Given the description of an element on the screen output the (x, y) to click on. 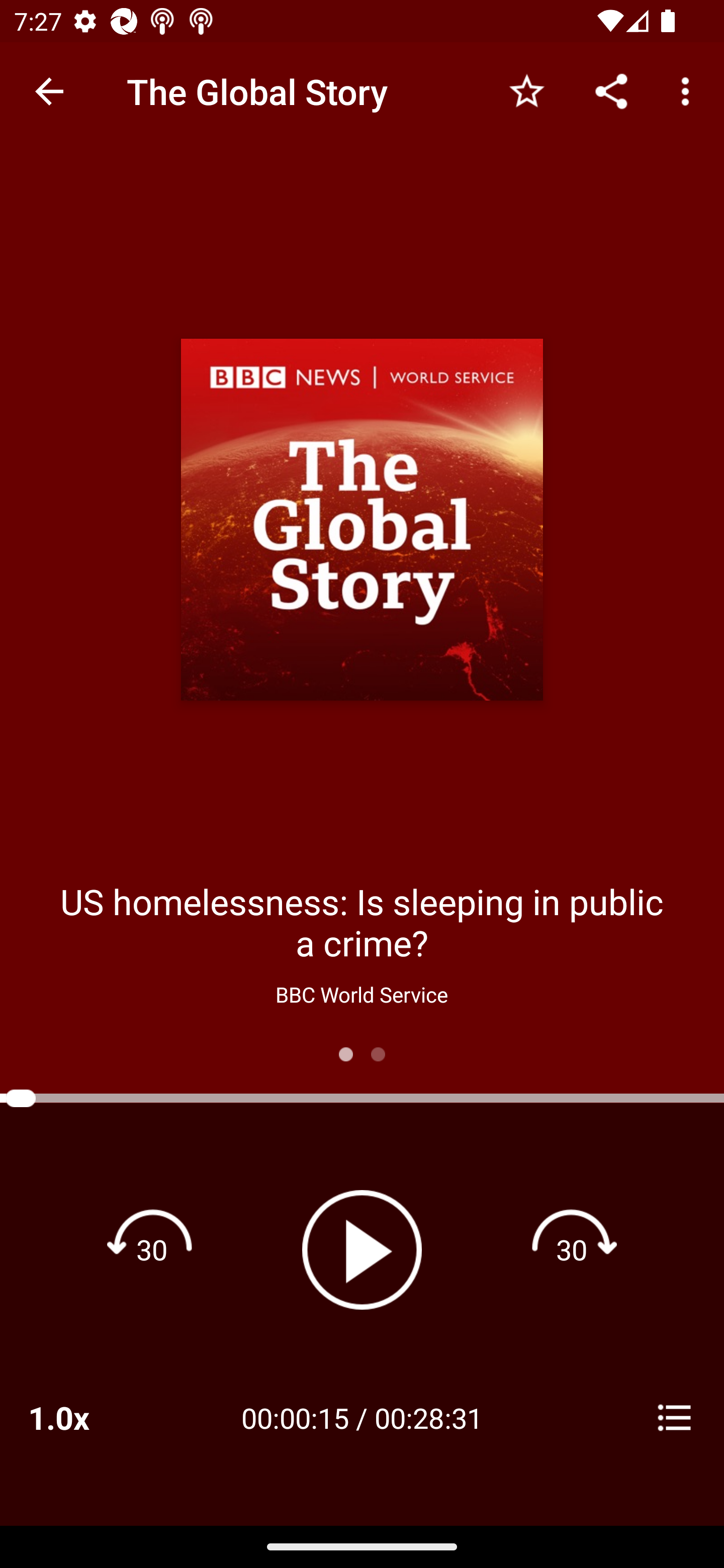
Navigate up (49, 91)
Add to Favorites (526, 90)
Share... (611, 90)
More options (688, 90)
BBC World Service (361, 994)
Play (361, 1249)
Rewind (151, 1249)
Fast forward (571, 1249)
1.0x Playback Speeds (84, 1417)
00:28:31 (428, 1417)
